Given the description of an element on the screen output the (x, y) to click on. 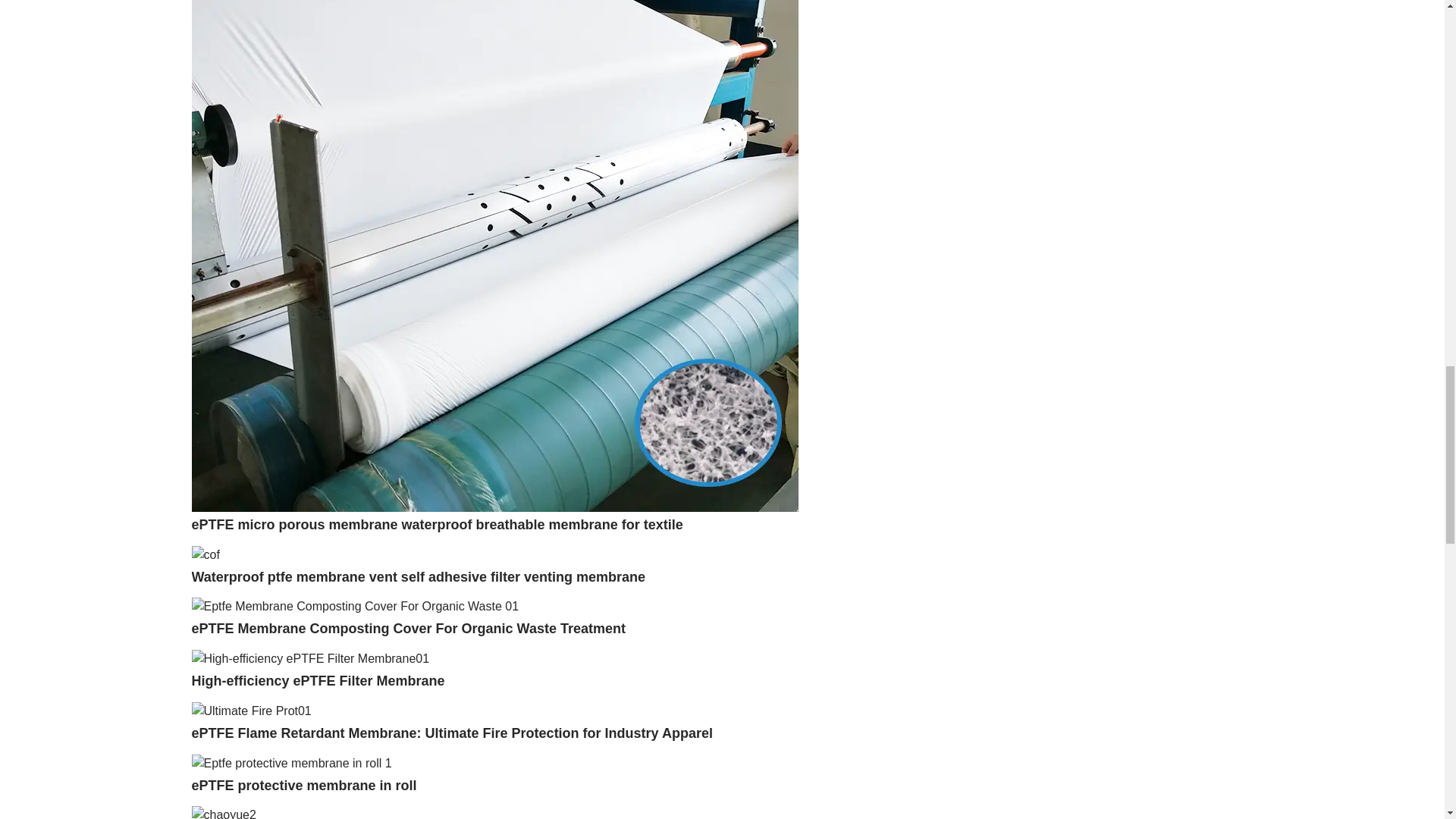
High-efficiency ePTFE Filter Membrane (317, 680)
High-efficiency ePTFE Filter Membrane (317, 680)
High-efficiency ePTFE Filter Membrane (309, 657)
ePTFE Membrane Composting Cover For Organic Waste Treatment  (407, 628)
ePTFE Membrane Composting Cover For Organic Waste Treatment (407, 628)
ePTFE Membrane Composting Cover For Organic Waste Treatment  (354, 604)
